Given the description of an element on the screen output the (x, y) to click on. 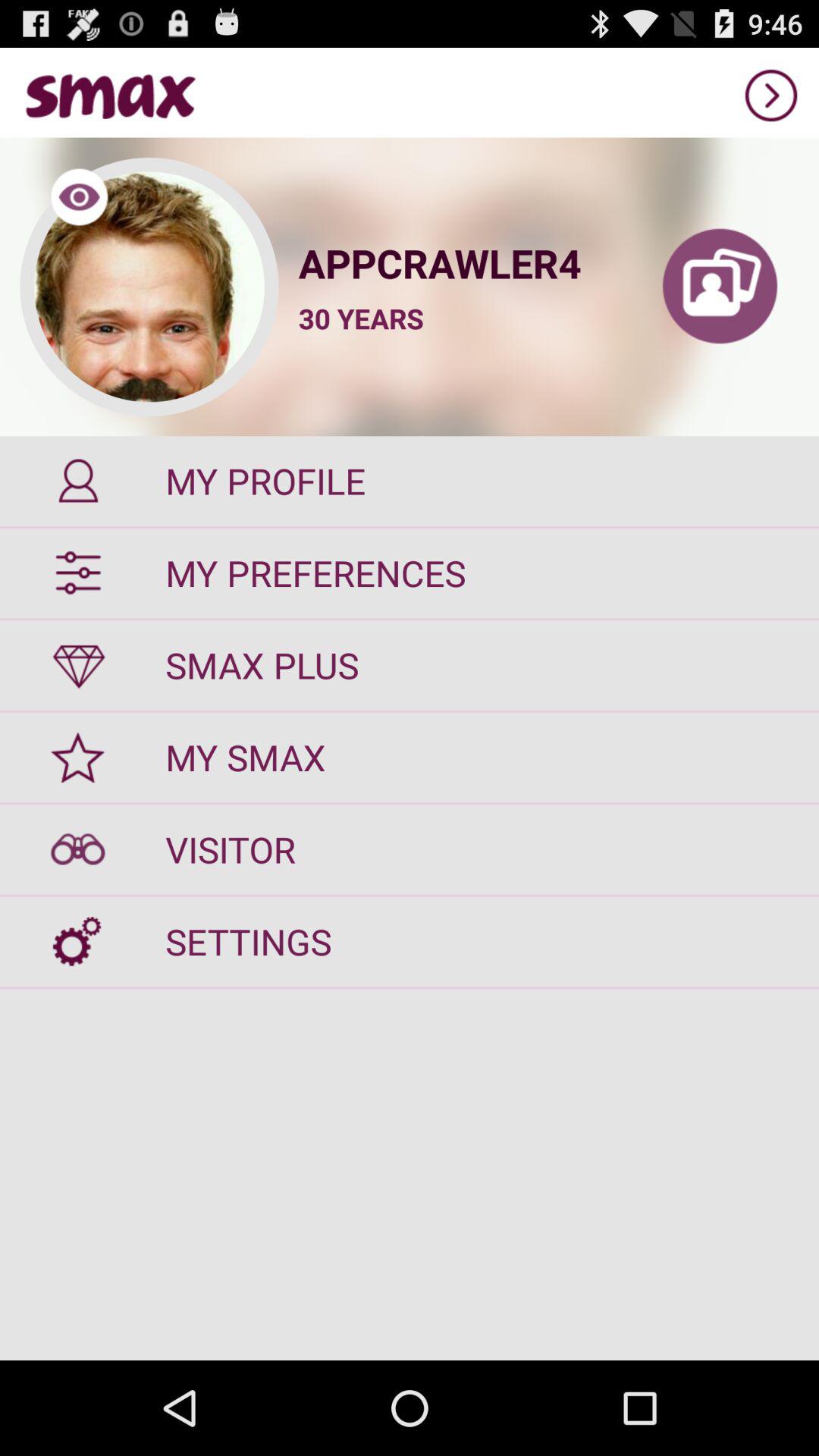
scroll to my preferences icon (409, 573)
